Given the description of an element on the screen output the (x, y) to click on. 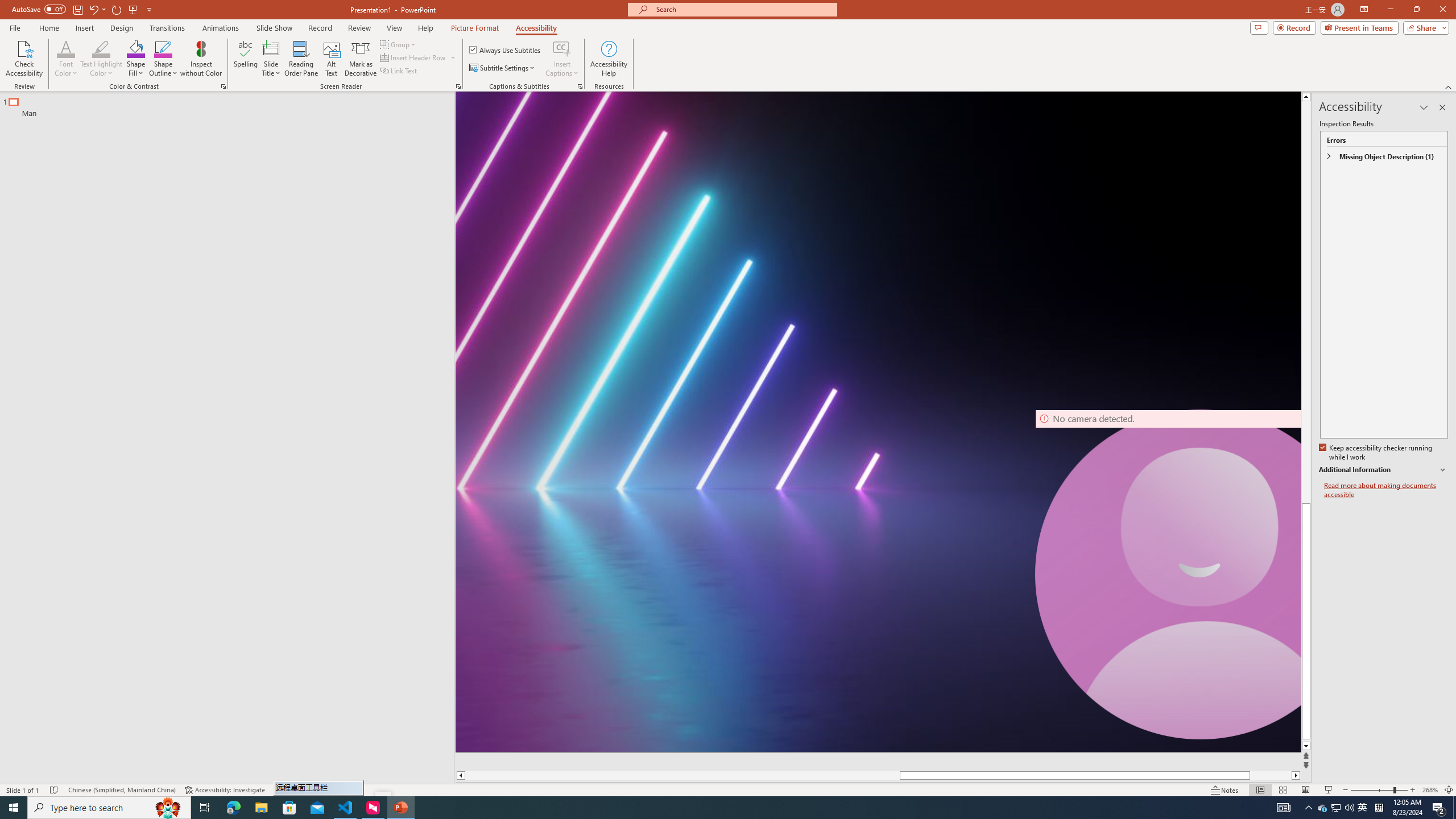
Class: MsoCommandBar (728, 789)
Additional Information (1383, 469)
Ribbon Display Options (1364, 9)
Home (48, 28)
Screen Reader (458, 85)
Text Highlight Color (100, 48)
Quick Access Toolbar (82, 9)
Animations (220, 28)
Read more about making documents accessible (1385, 489)
Zoom 268% (1430, 790)
Shape Outline (163, 58)
Check Accessibility (23, 58)
